Given the description of an element on the screen output the (x, y) to click on. 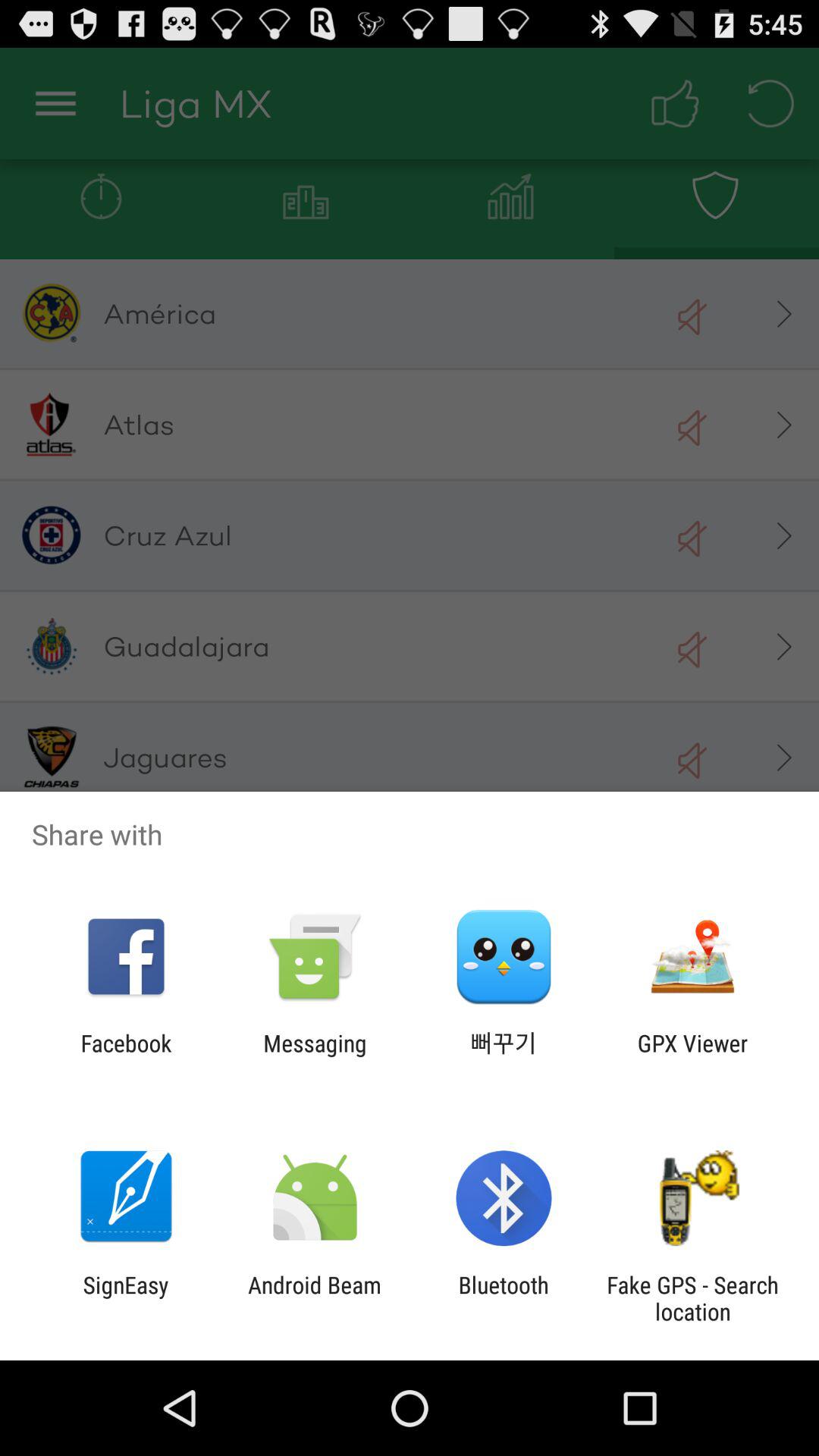
swipe to bluetooth app (503, 1298)
